Given the description of an element on the screen output the (x, y) to click on. 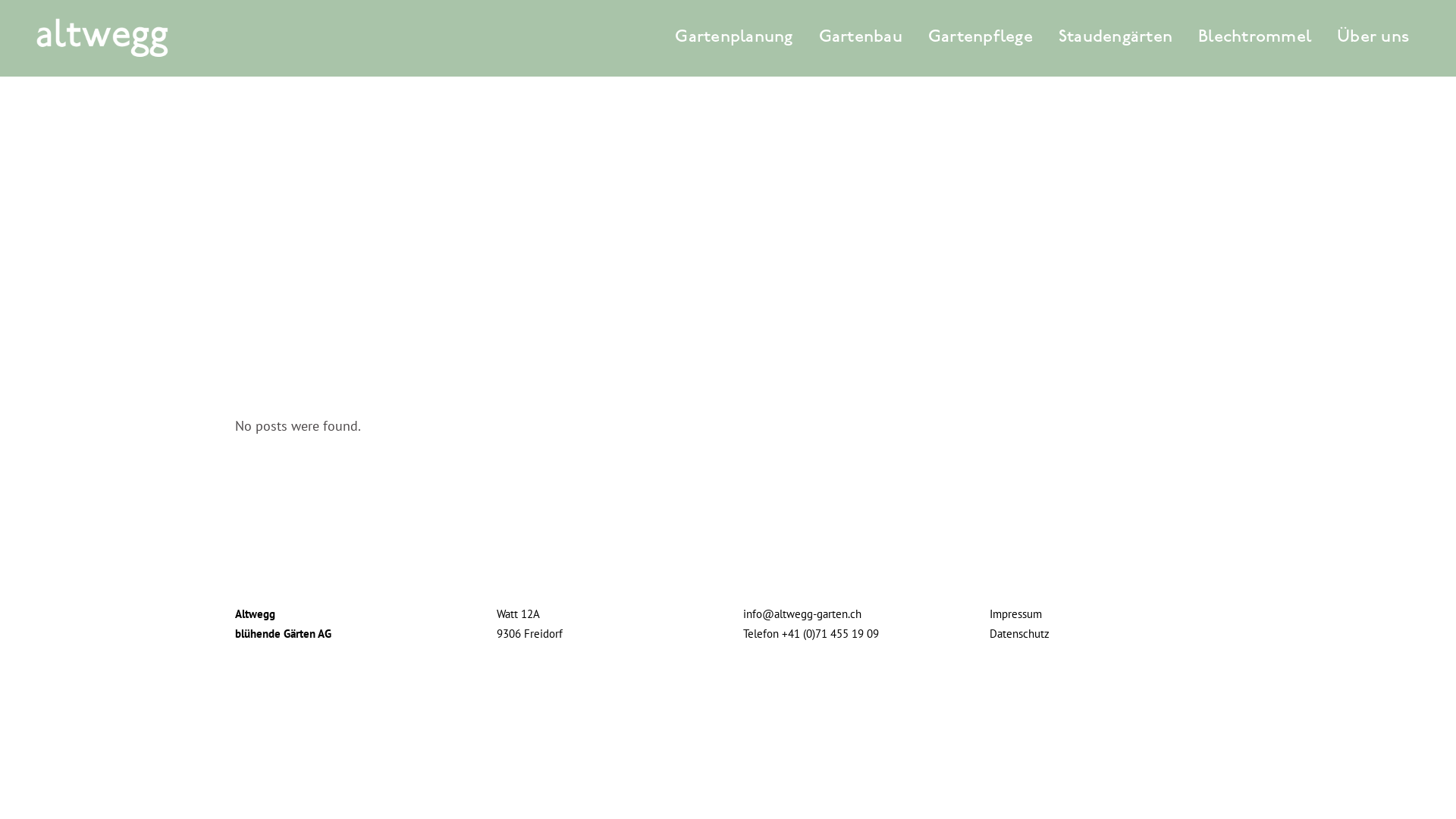
info@altwegg-garten.ch Element type: text (802, 613)
Gartenbau Element type: text (859, 37)
Telefon +41 (0)71 455 19 09 Element type: text (810, 633)
Impressum Element type: text (1015, 613)
Datenschutz Element type: text (1019, 633)
Blechtrommel Element type: text (1254, 37)
Gartenpflege Element type: text (980, 37)
Gartenplanung Element type: text (733, 37)
